Given the description of an element on the screen output the (x, y) to click on. 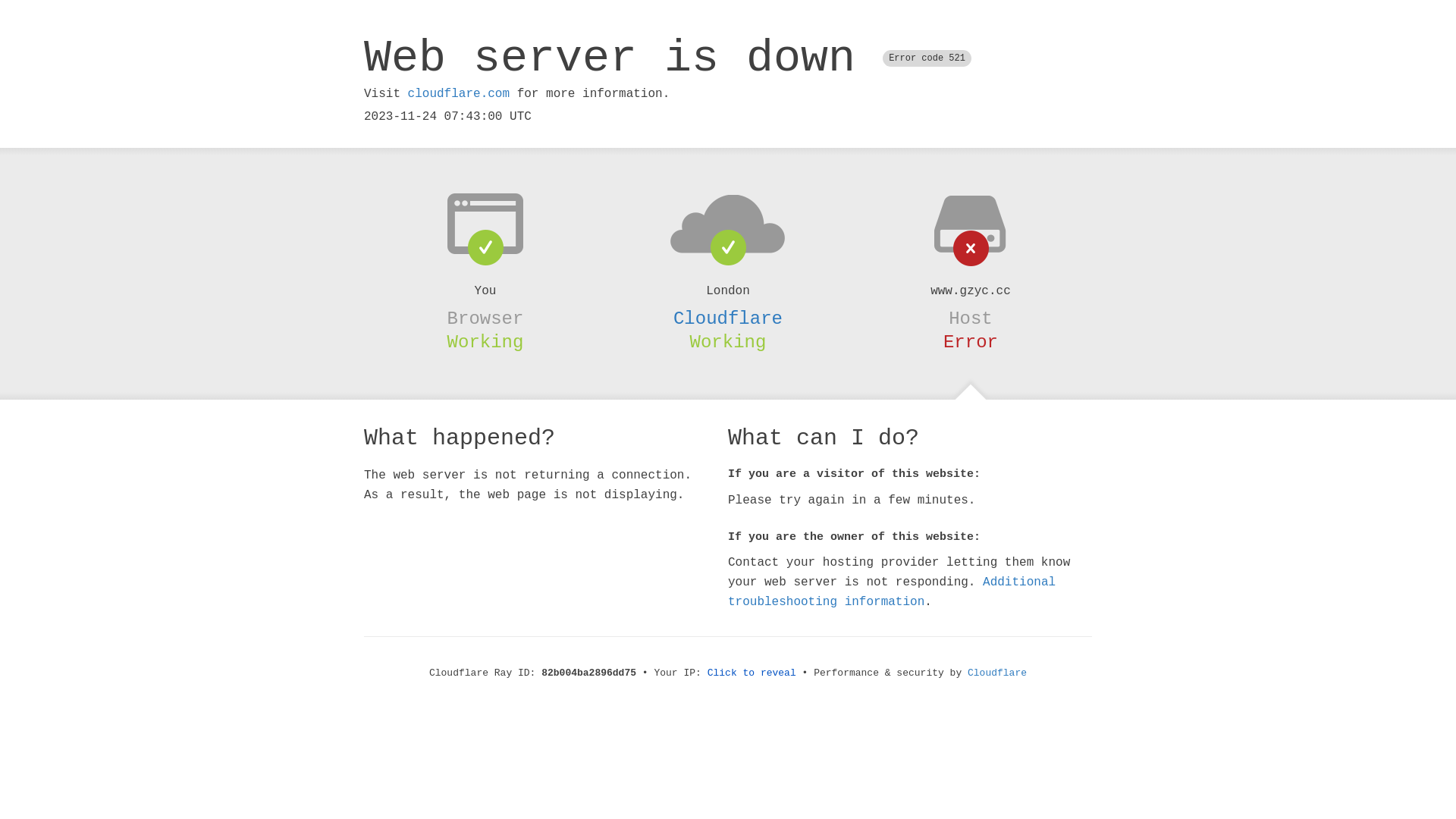
Additional troubleshooting information Element type: text (891, 591)
cloudflare.com Element type: text (458, 93)
Cloudflare Element type: text (996, 672)
Cloudflare Element type: text (727, 318)
Click to reveal Element type: text (751, 672)
